Given the description of an element on the screen output the (x, y) to click on. 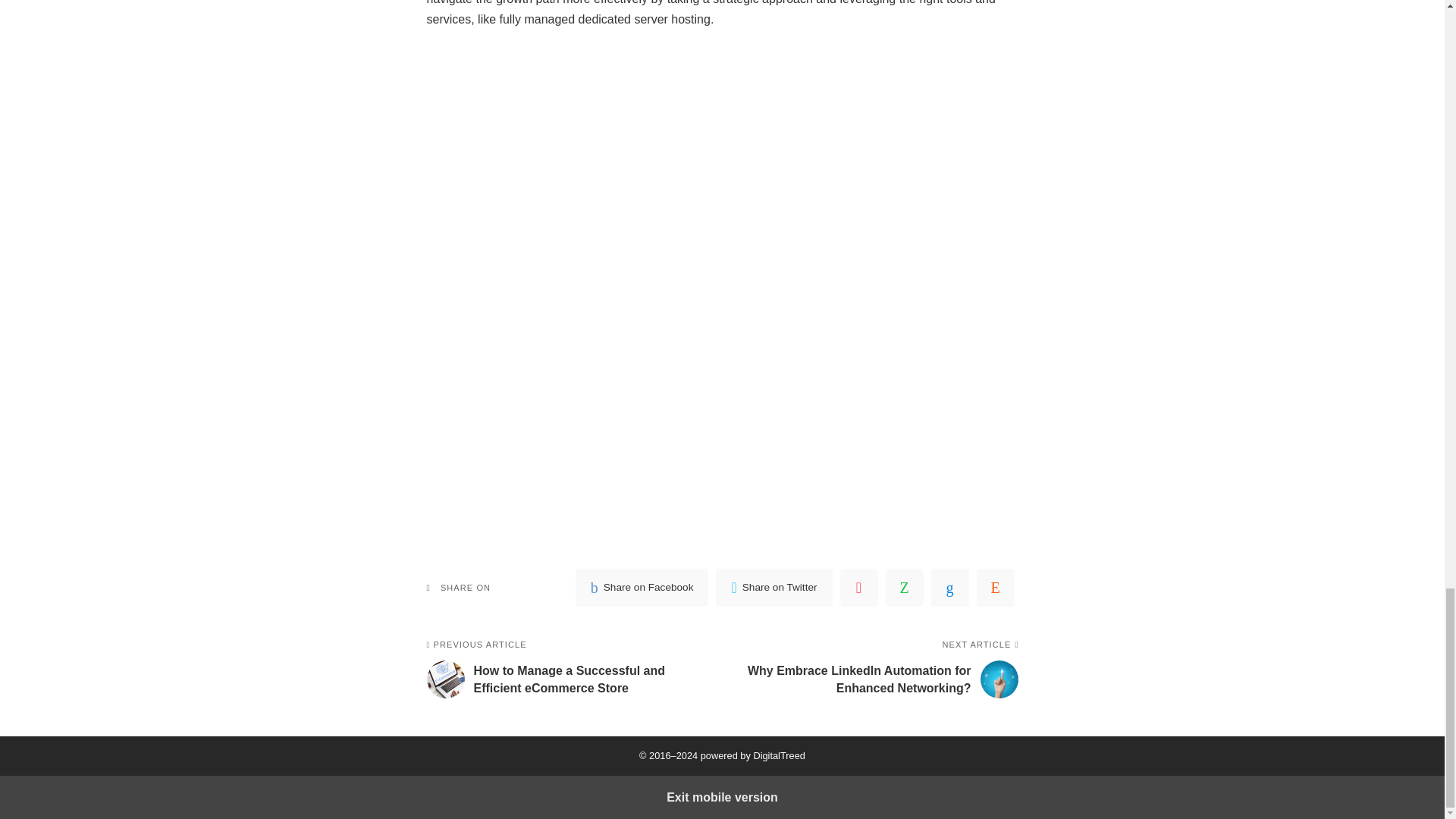
Reddit (995, 587)
Pinterest (858, 587)
WhatsApp (904, 587)
Share on Facebook (642, 587)
Facebook (642, 587)
linkedIn (950, 587)
Share on Twitter (773, 587)
